Given the description of an element on the screen output the (x, y) to click on. 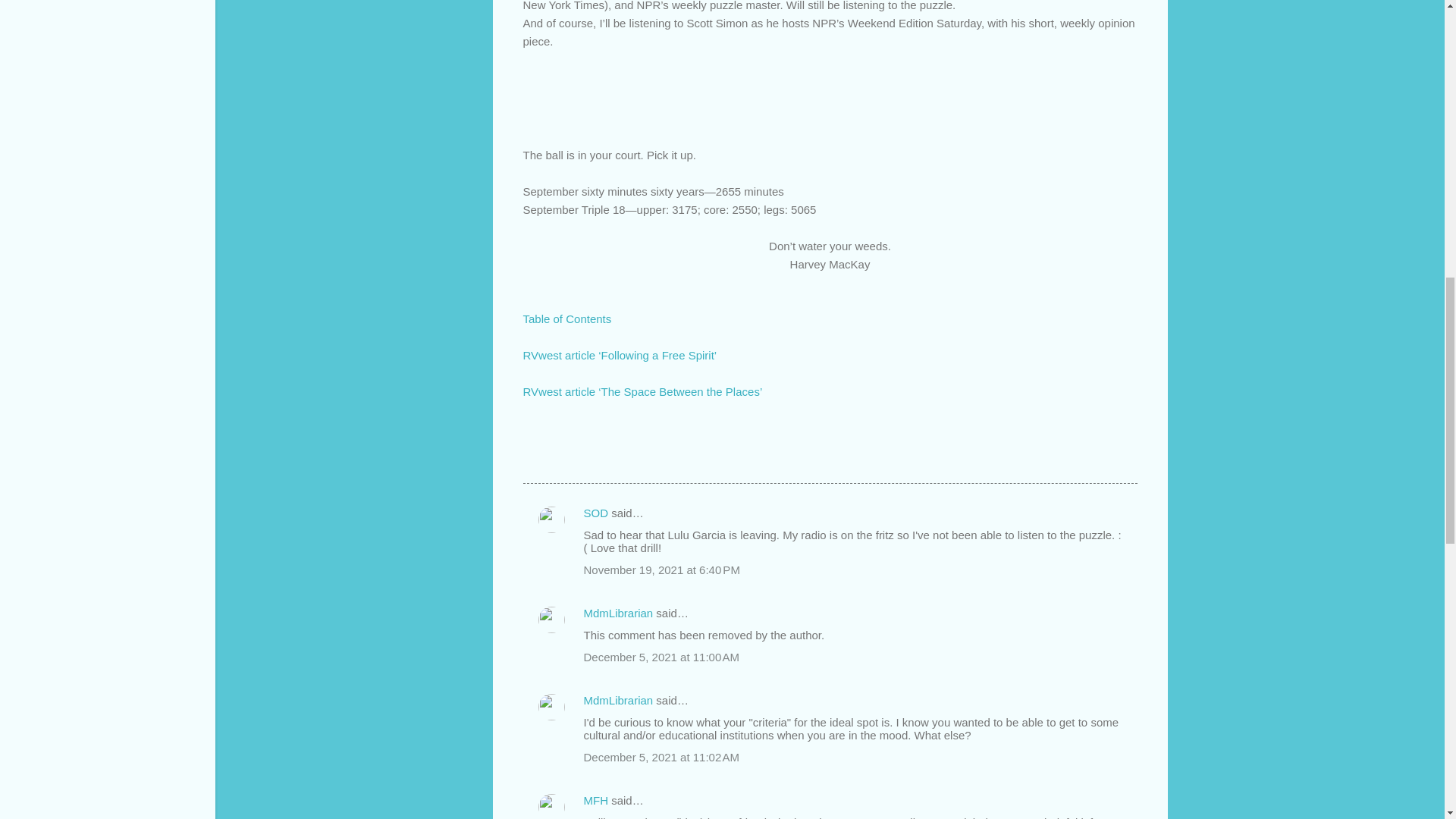
SOD (595, 512)
MFH (595, 799)
MdmLibrarian (618, 699)
Table of Contents (566, 318)
comment permalink (661, 569)
MdmLibrarian (618, 612)
